Given the description of an element on the screen output the (x, y) to click on. 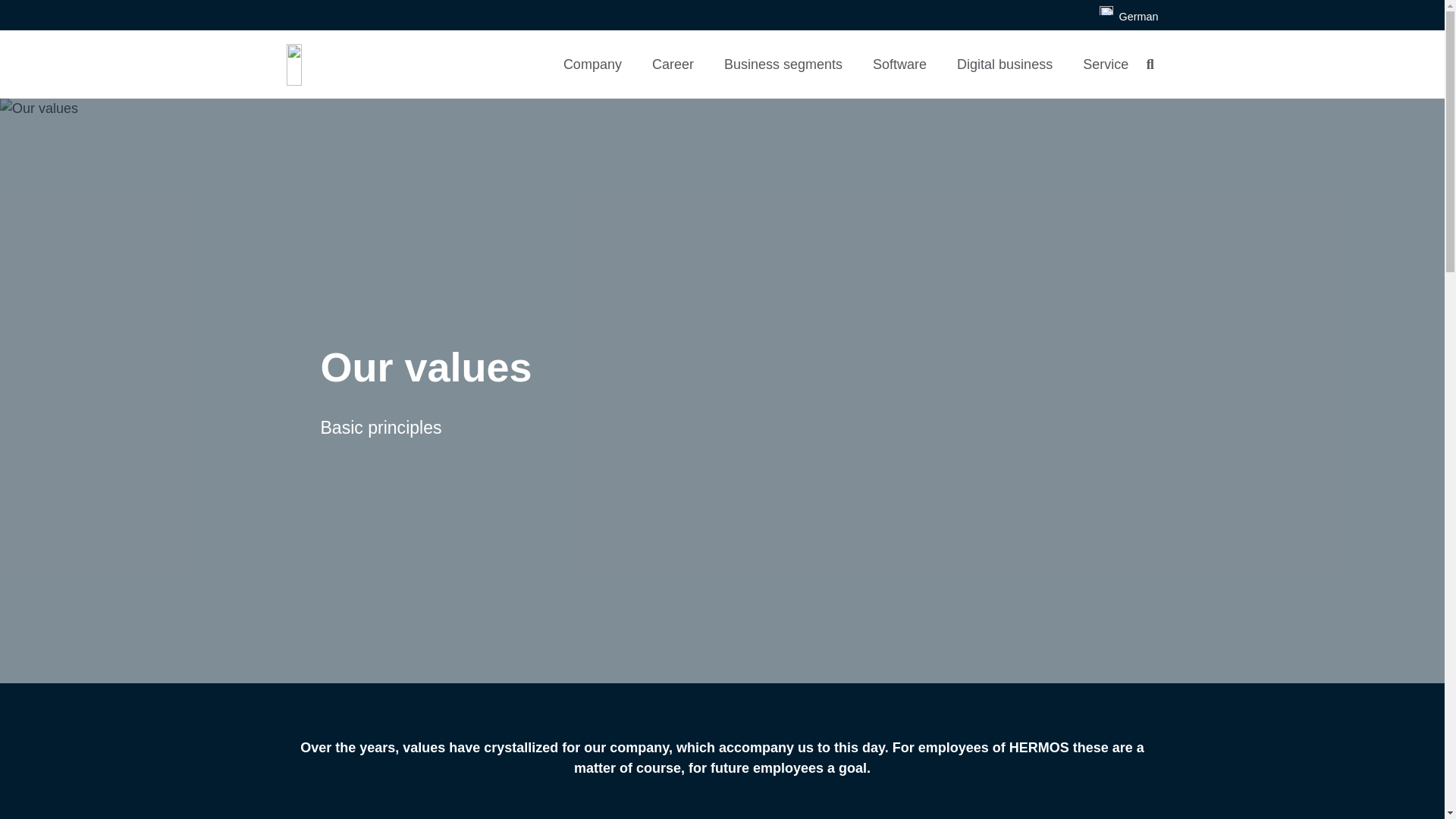
German (1128, 16)
Business segments (783, 64)
Career (673, 64)
Company (592, 64)
Software (899, 64)
